Given the description of an element on the screen output the (x, y) to click on. 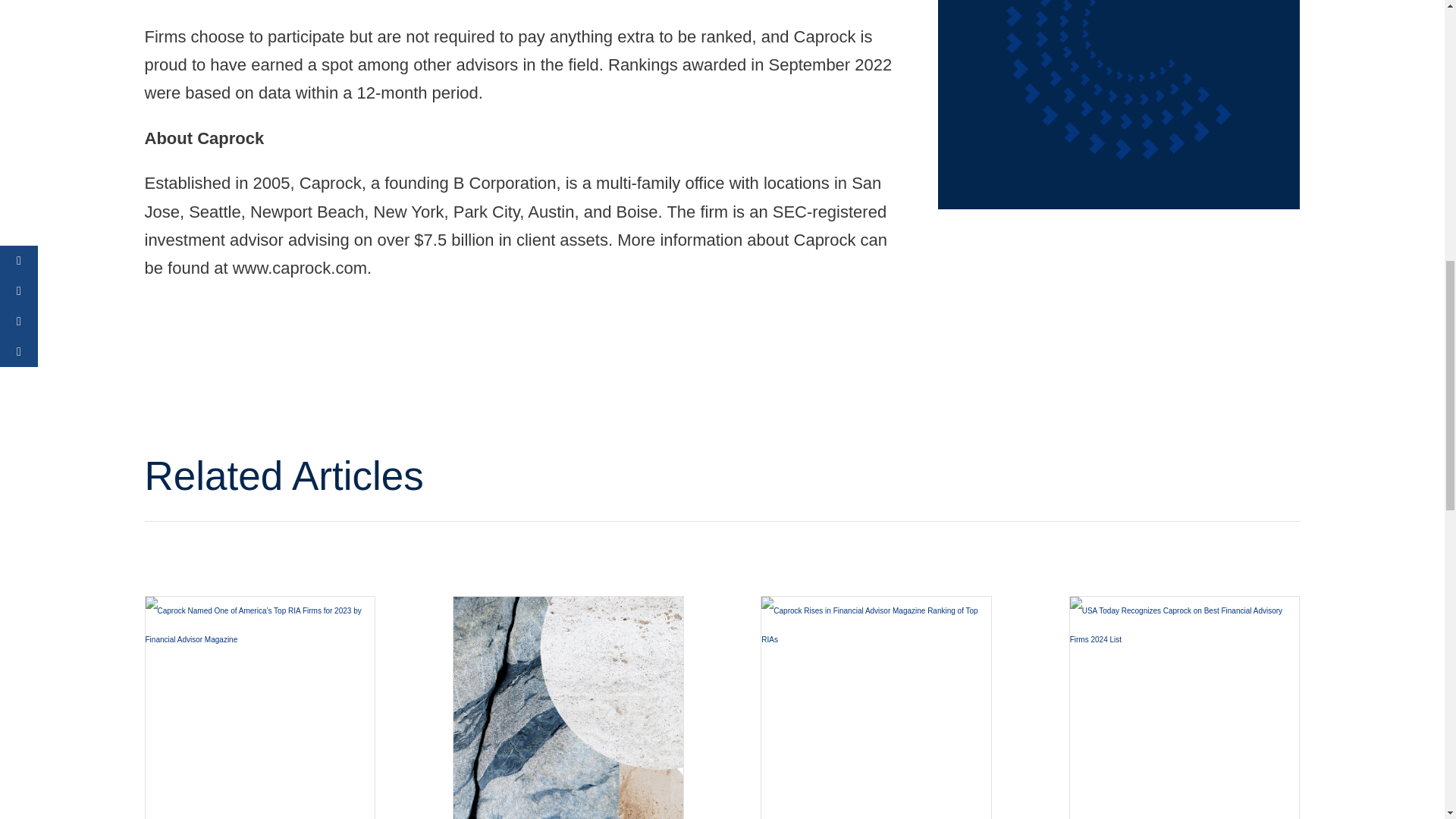
Caprock C Icon (1118, 104)
